Given the description of an element on the screen output the (x, y) to click on. 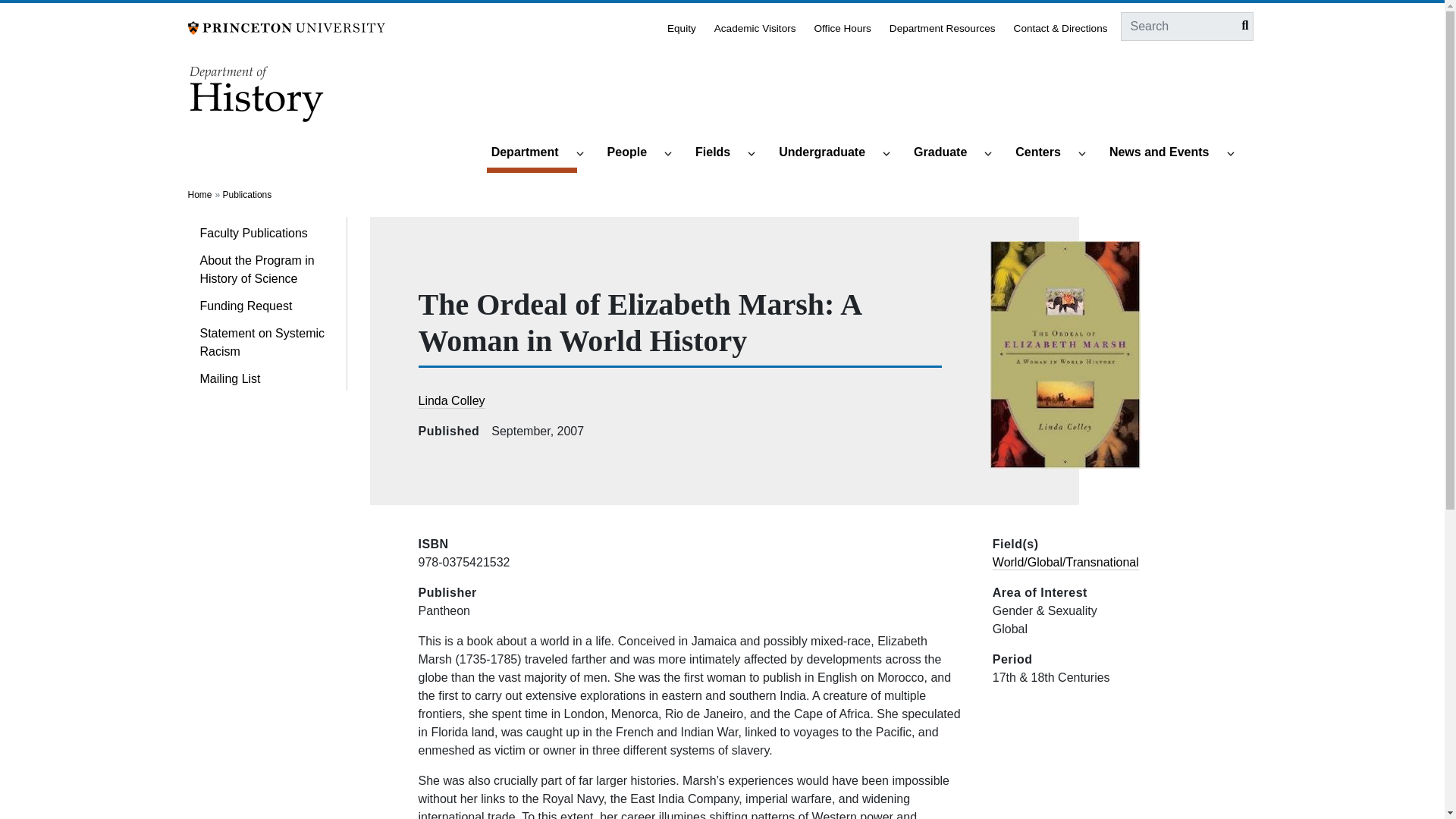
Fields (719, 153)
People (633, 153)
Submit (1240, 25)
Princeton University (286, 26)
Home (257, 98)
